Given the description of an element on the screen output the (x, y) to click on. 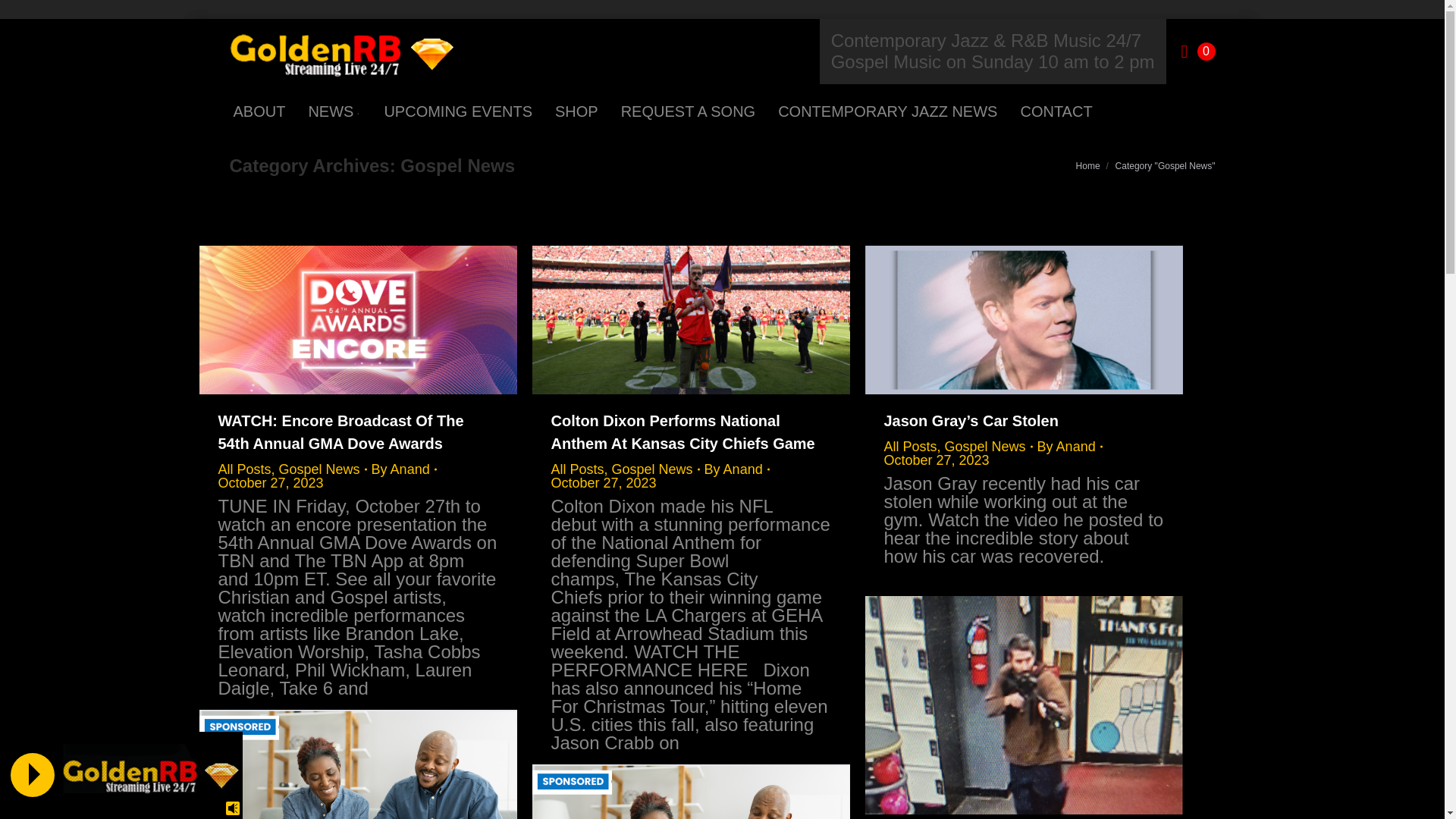
CONTEMPORARY JAZZ NEWS (887, 111)
watch:-encore-broadcast-of-the-54th-annual-gma-dove-awards (357, 319)
View all posts by Anand (737, 468)
REQUEST A SONG (687, 111)
View all posts by Anand (403, 468)
 0 (1197, 51)
9:30 am (270, 482)
CONTACT (1056, 111)
